Given the description of an element on the screen output the (x, y) to click on. 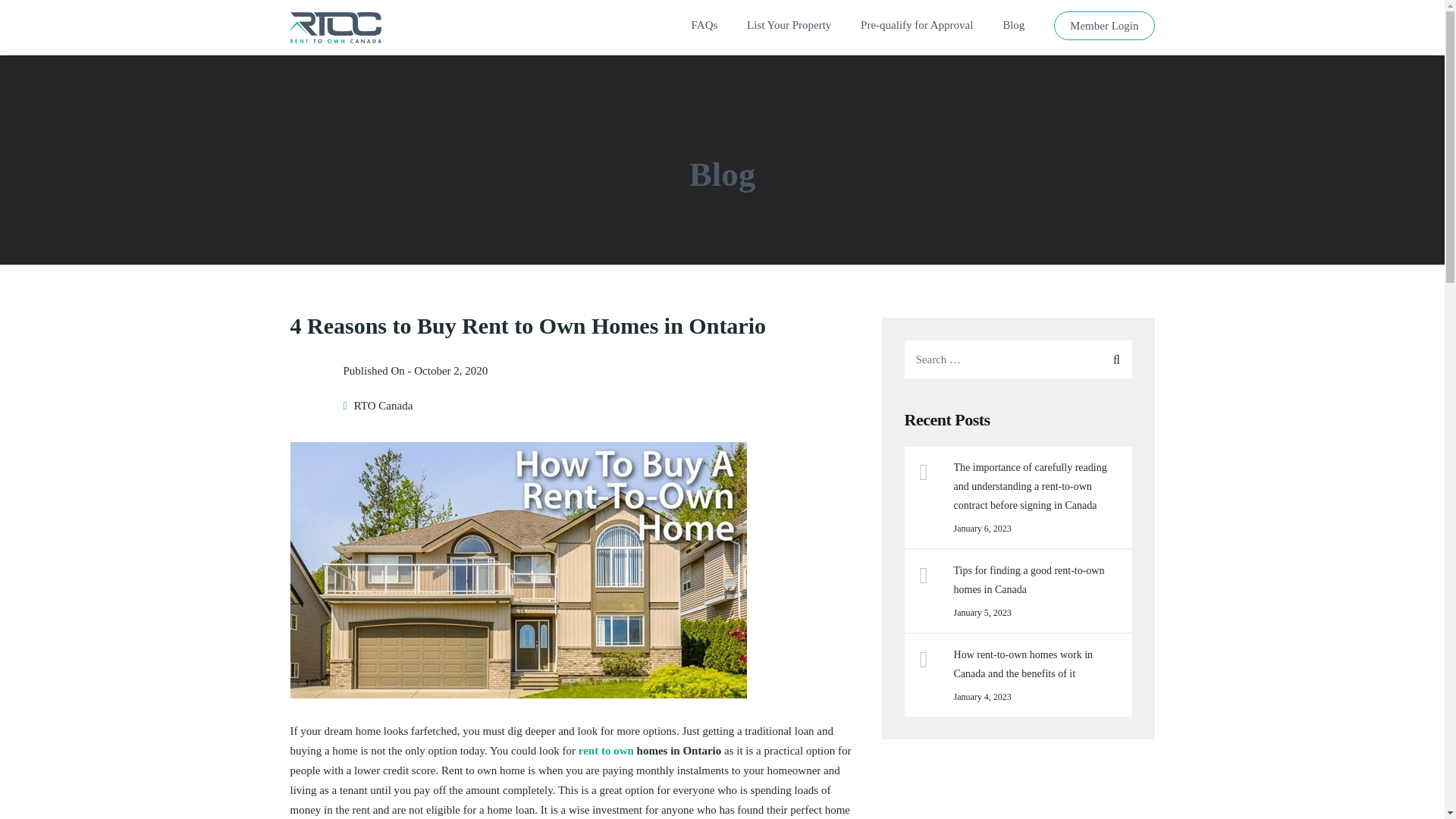
rent to own (605, 750)
October 2, 2020 (450, 370)
List Your Property (788, 28)
Tips for finding a good rent-to-own homes in Canada (1037, 579)
RTO Canada (383, 405)
Pre-qualify for Approval (916, 28)
Member Login (1104, 29)
FAQs (704, 28)
How rent-to-own homes work in Canada and the benefits of it (1037, 664)
